Given the description of an element on the screen output the (x, y) to click on. 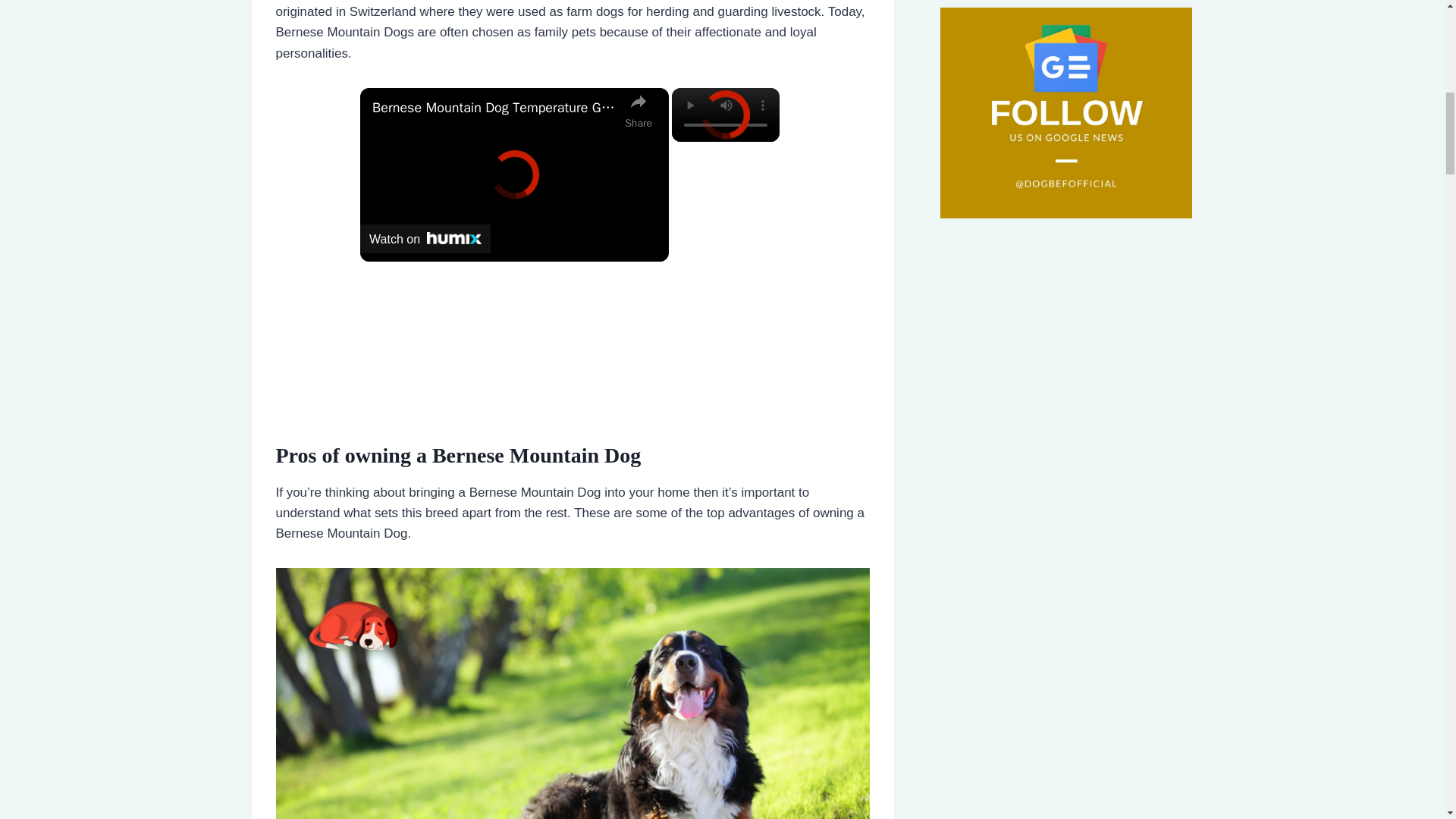
Watch on (424, 238)
